Given the description of an element on the screen output the (x, y) to click on. 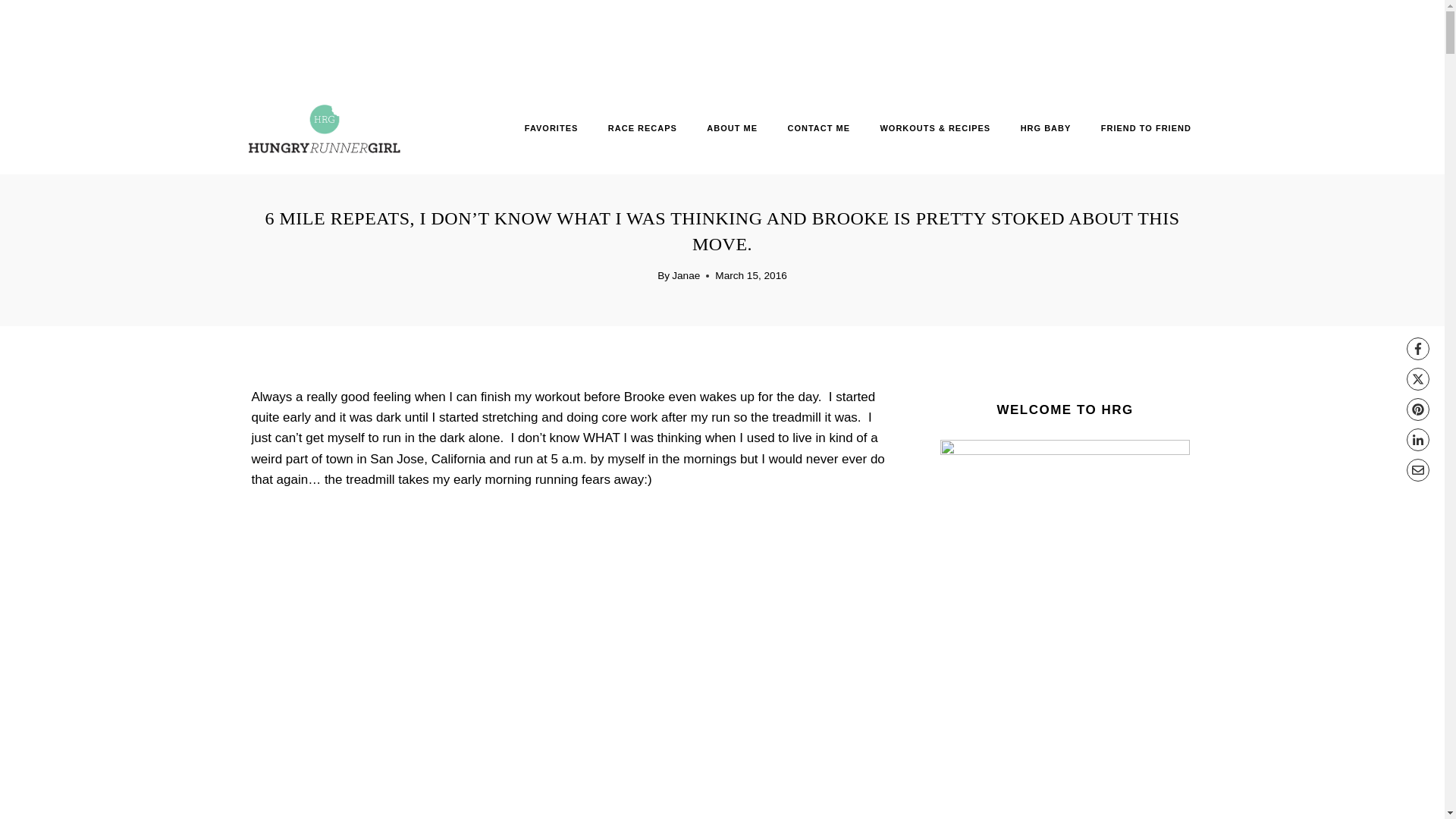
ABOUT ME (731, 128)
Janae (685, 275)
RACE RECAPS (641, 128)
FRIEND TO FRIEND (1145, 128)
CONTACT ME (819, 128)
FAVORITES (551, 128)
HRG BABY (1044, 128)
